Given the description of an element on the screen output the (x, y) to click on. 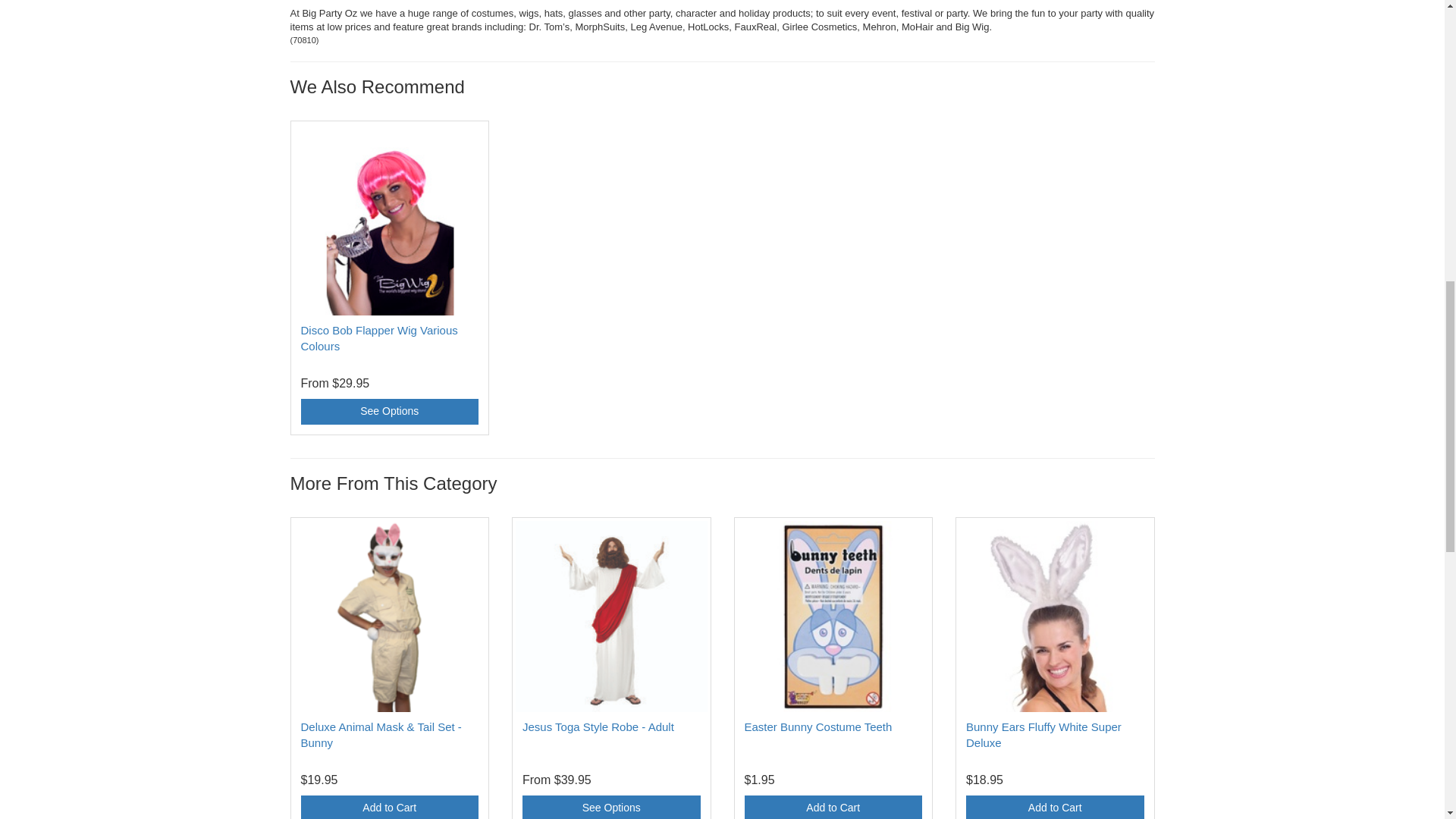
Add to Cart (1055, 807)
Buying Options (611, 807)
Buying Options (389, 411)
Easter Bunny Costume Teeth (818, 726)
Bunny Ears Fluffy White Super Deluxe (1043, 734)
Add to Cart (833, 807)
Jesus Toga Style Robe - Adult (598, 726)
Add to Cart (389, 807)
Disco Bob Flapper Wig Various Colours (378, 337)
